Given the description of an element on the screen output the (x, y) to click on. 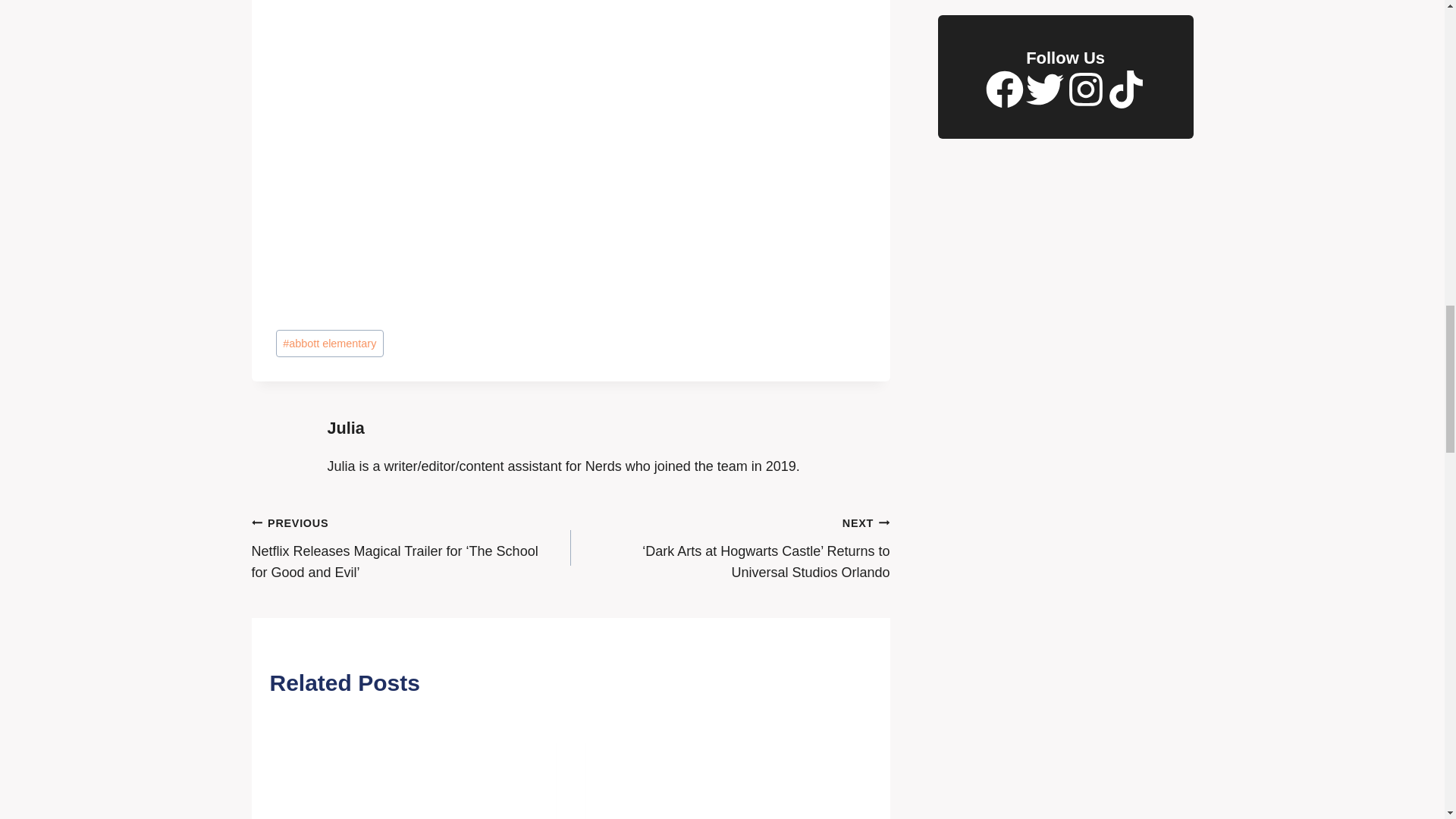
YouTube video player (488, 49)
Posts by Julia (346, 427)
abbott elementary (330, 343)
